Given the description of an element on the screen output the (x, y) to click on. 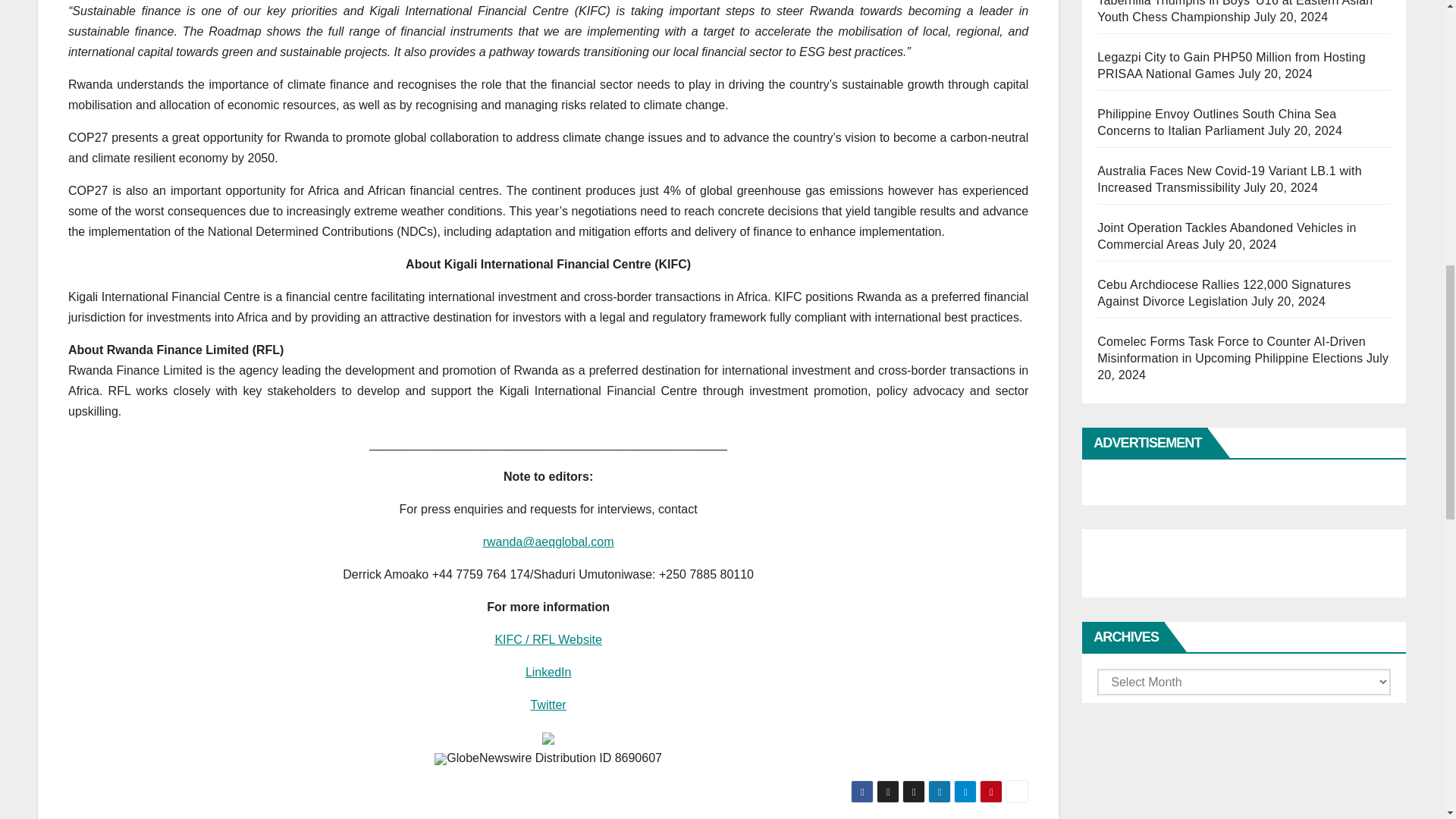
Twitter (548, 704)
LinkedIn (548, 671)
